Given the description of an element on the screen output the (x, y) to click on. 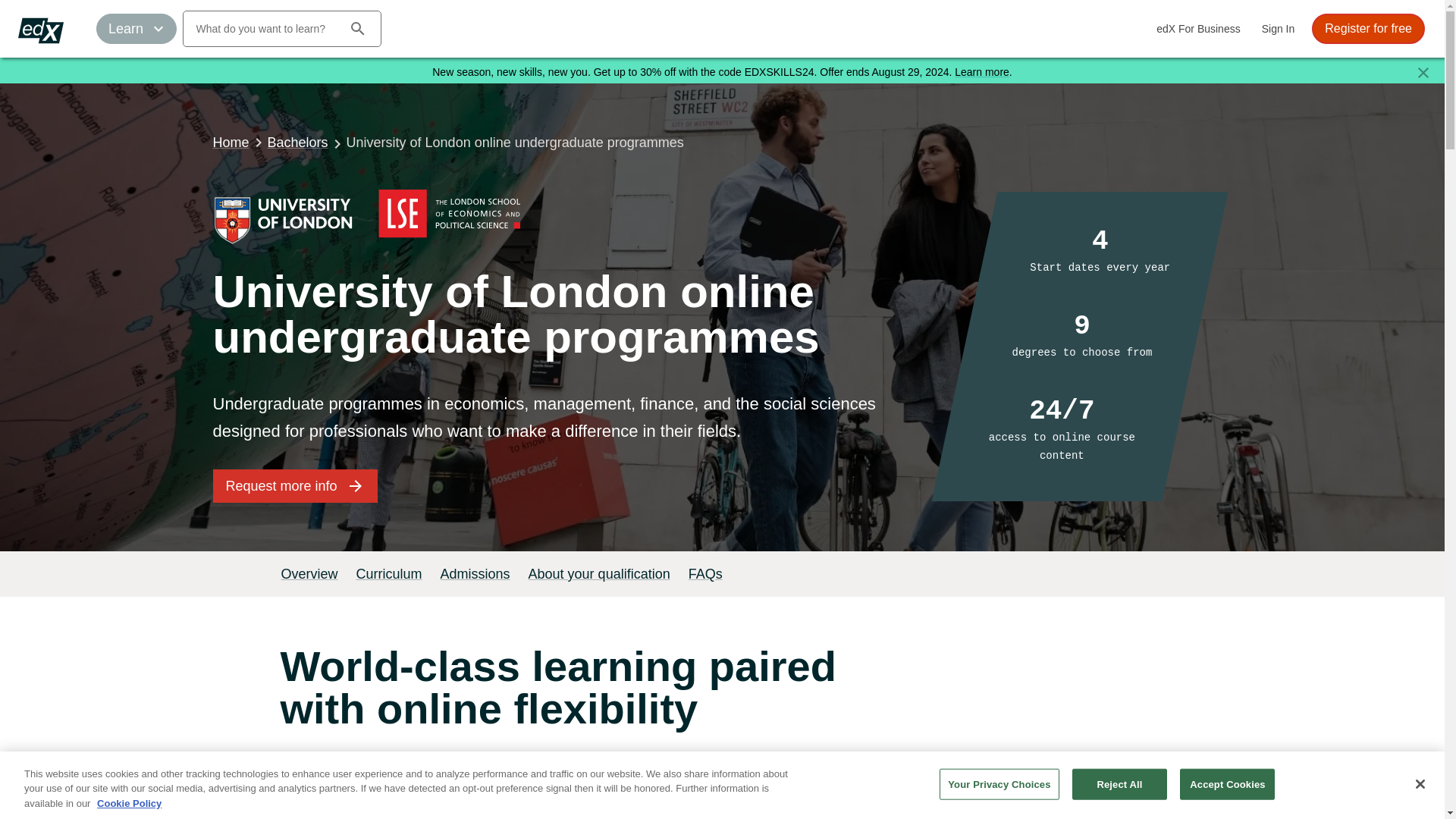
Learn (136, 28)
Overview (309, 573)
Sign In (1278, 28)
Register for free (1368, 28)
Curriculum (389, 573)
Request more info (294, 485)
Learn more (982, 71)
Submit your search query (358, 28)
About your qualification (598, 573)
Home (230, 142)
